Given the description of an element on the screen output the (x, y) to click on. 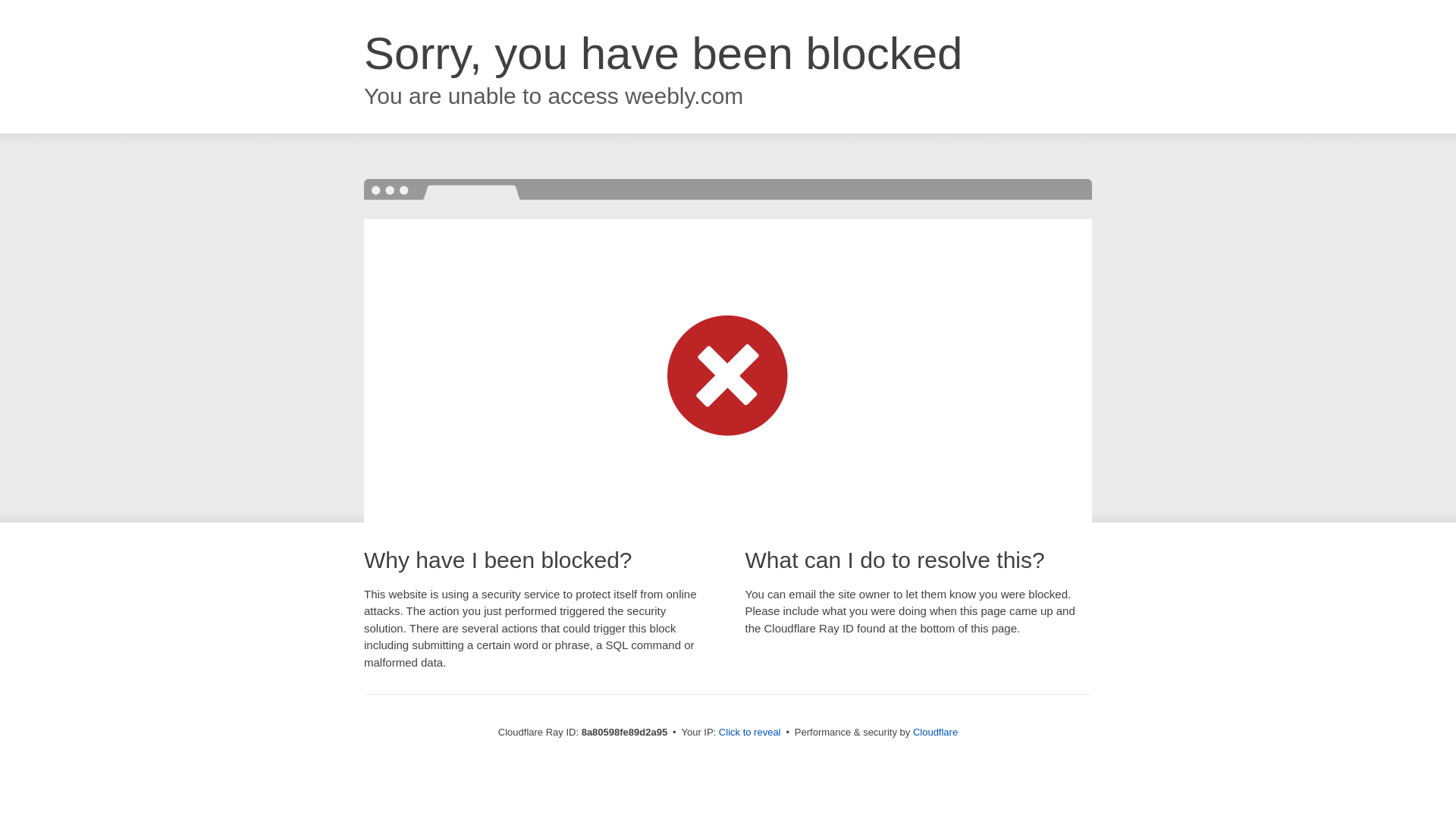
Cloudflare (935, 731)
Click to reveal (749, 732)
